Given the description of an element on the screen output the (x, y) to click on. 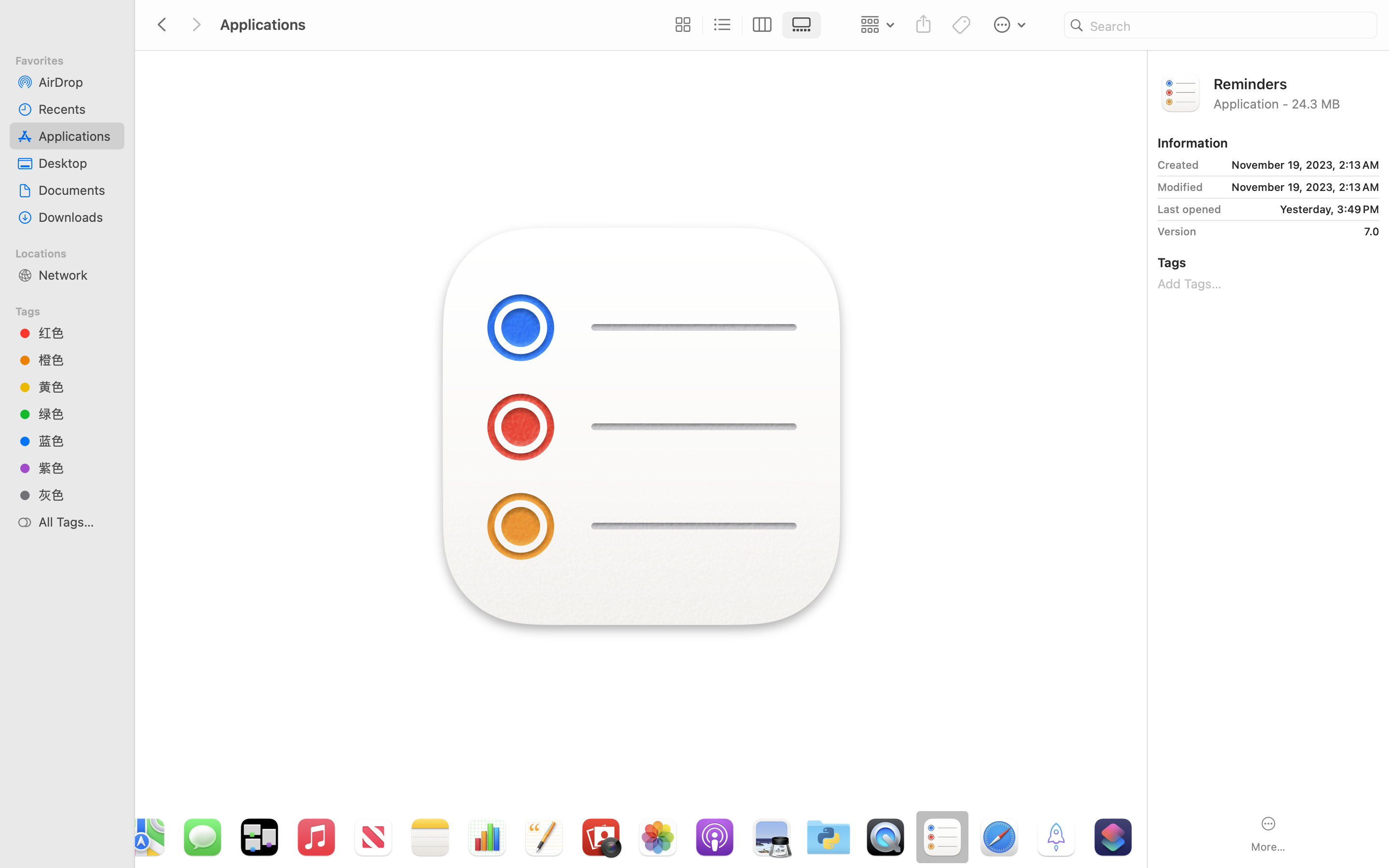
灰色 Element type: AXStaticText (77, 494)
蓝色 Element type: AXStaticText (77, 440)
Applications Element type: AXStaticText (437, 827)
Tags… Element type: AXStaticText (20, 860)
Application - 24.3 MB Element type: AXStaticText (1296, 102)
